Given the description of an element on the screen output the (x, y) to click on. 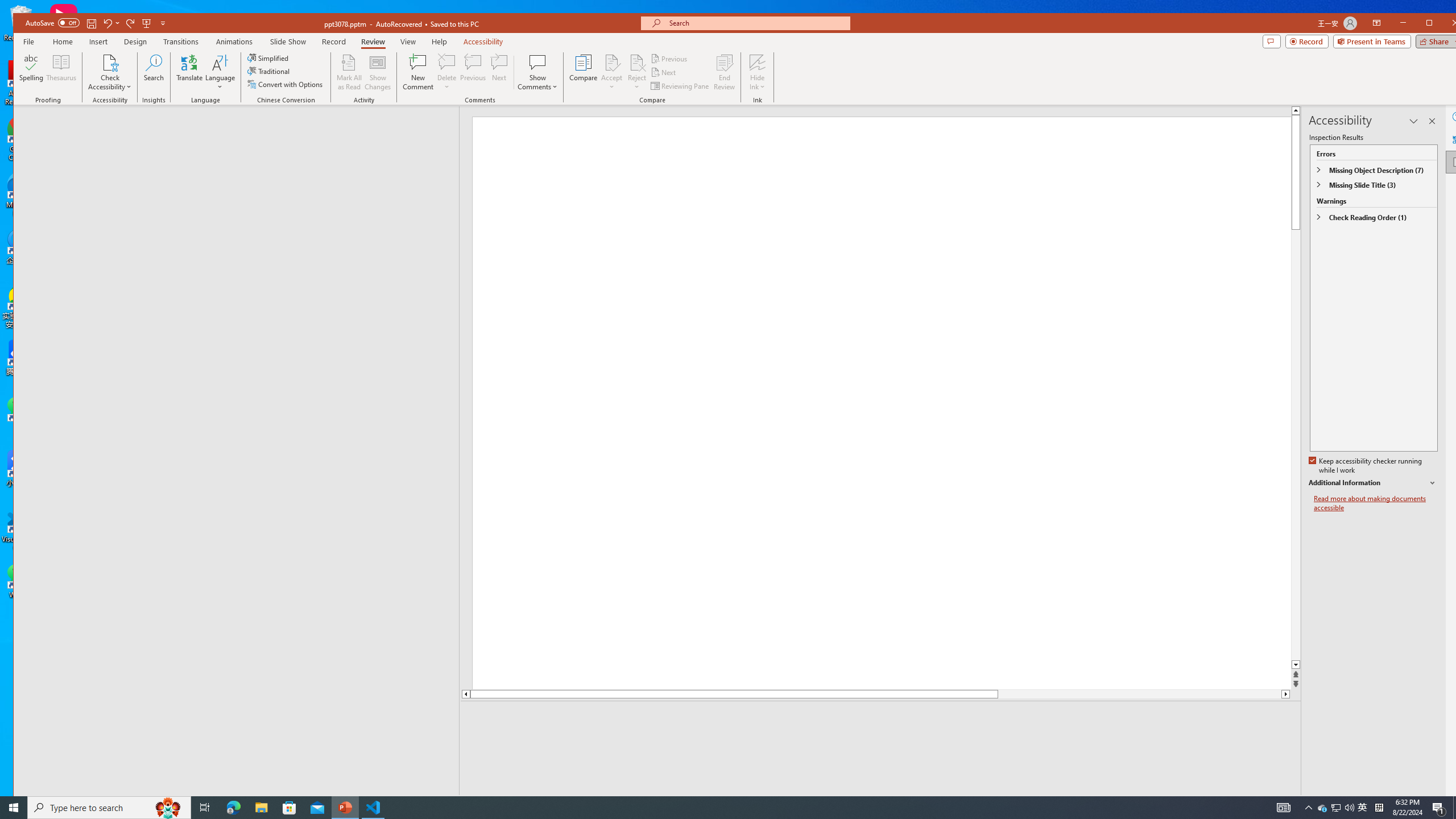
End Review (723, 72)
Previous (670, 58)
